Given the description of an element on the screen output the (x, y) to click on. 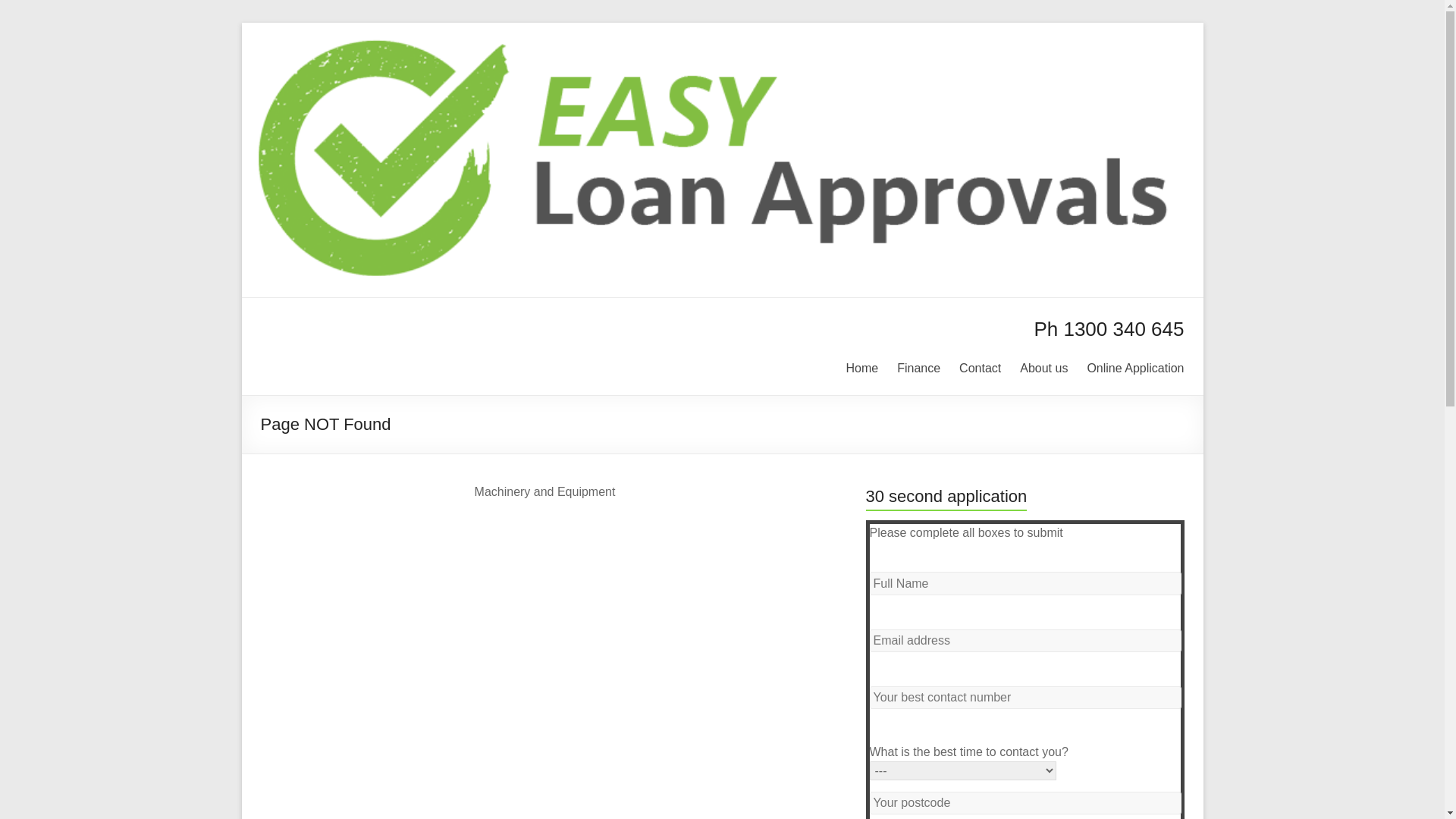
Home Element type: text (862, 365)
Online Application Element type: text (1134, 365)
About us Element type: text (1043, 365)
Contact Element type: text (980, 365)
Finance Element type: text (918, 365)
